Given the description of an element on the screen output the (x, y) to click on. 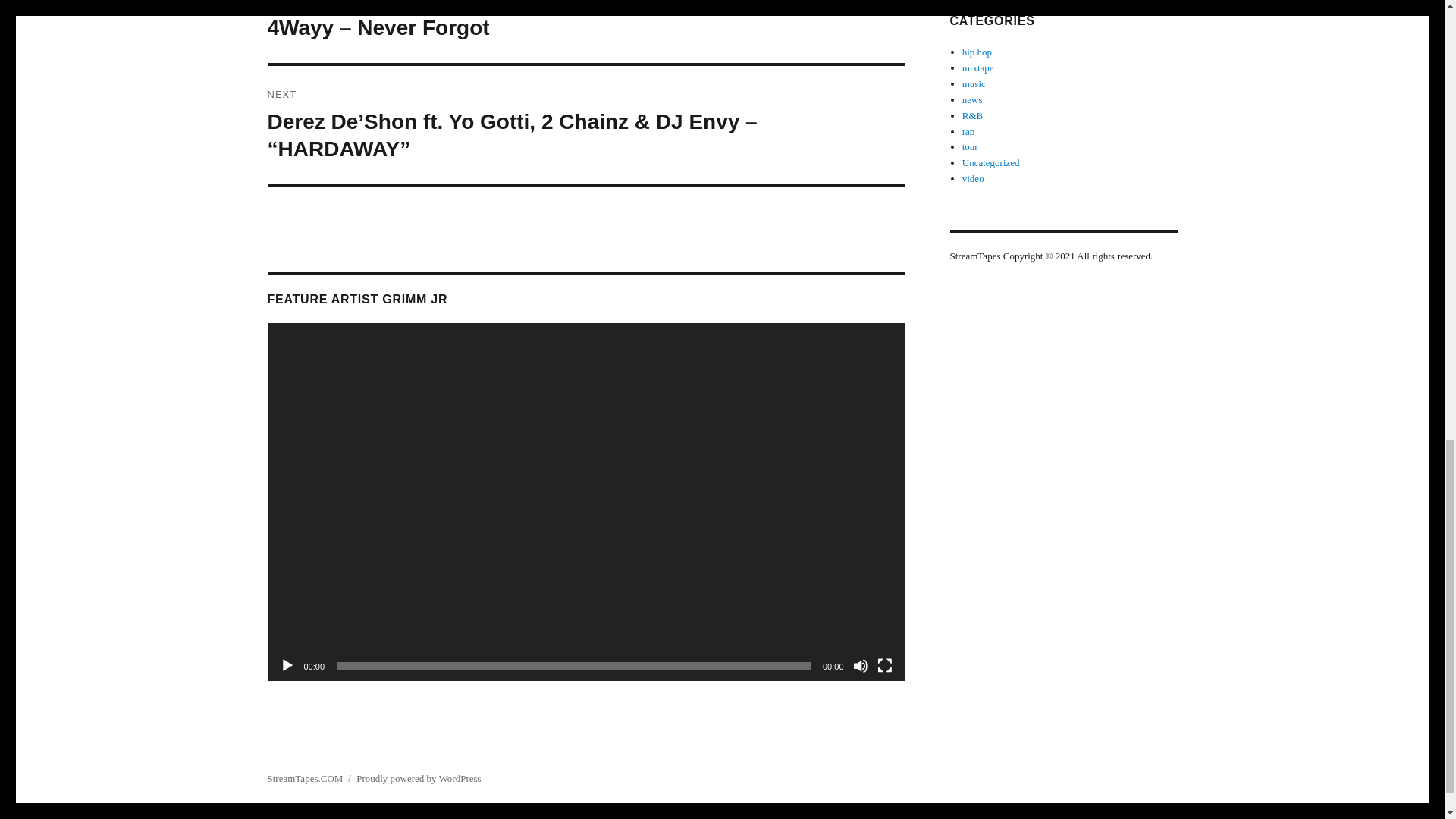
Fullscreen (883, 665)
mixtape (978, 67)
hip hop (976, 51)
Play (286, 665)
music (973, 83)
Mute (859, 665)
